Given the description of an element on the screen output the (x, y) to click on. 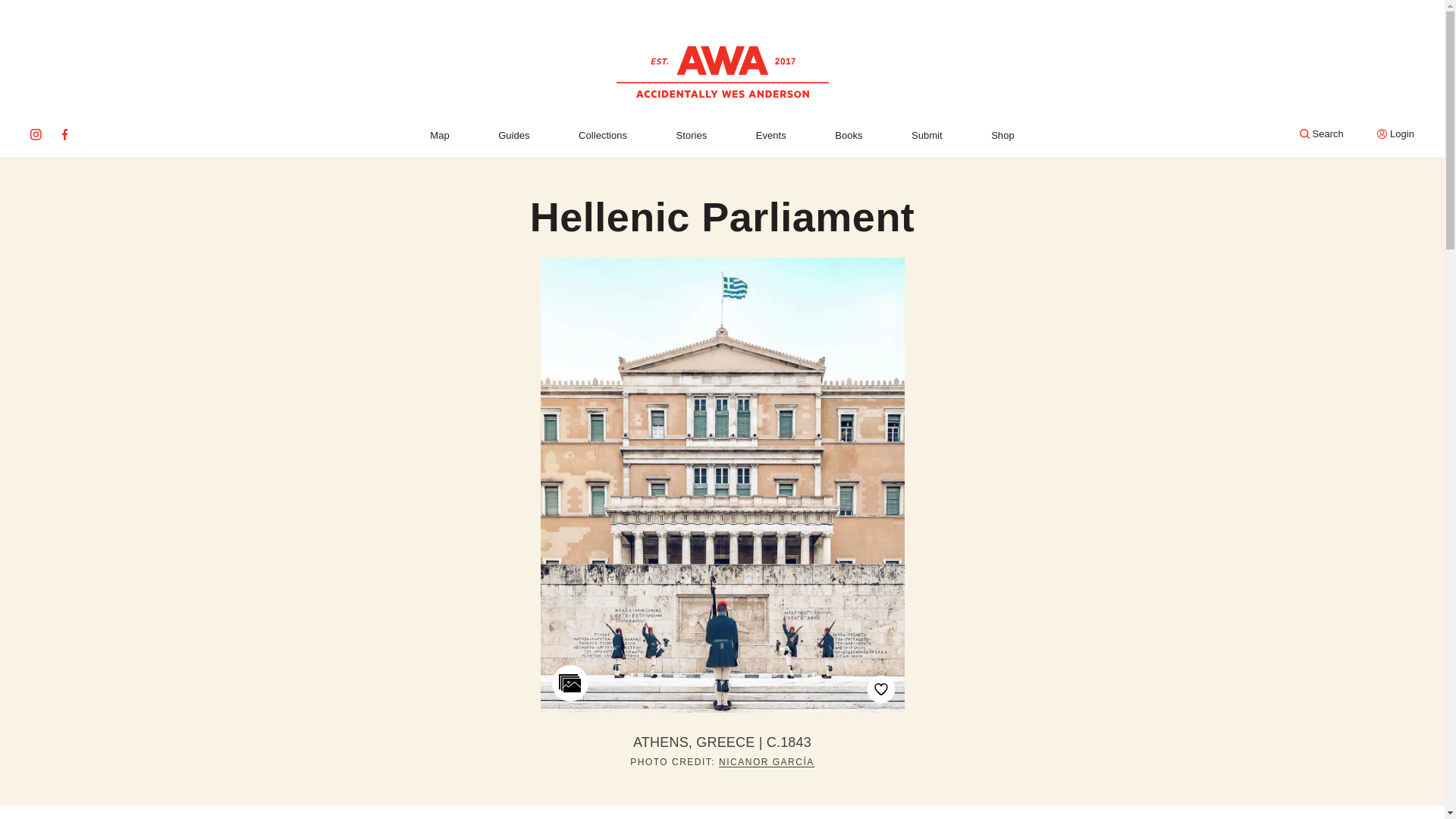
Shop (1002, 134)
Books (847, 134)
Submit (926, 134)
Guides (513, 134)
Collections (602, 134)
Login (1395, 133)
Events (770, 134)
Map (438, 134)
Search (1321, 133)
Stories (692, 134)
